Given the description of an element on the screen output the (x, y) to click on. 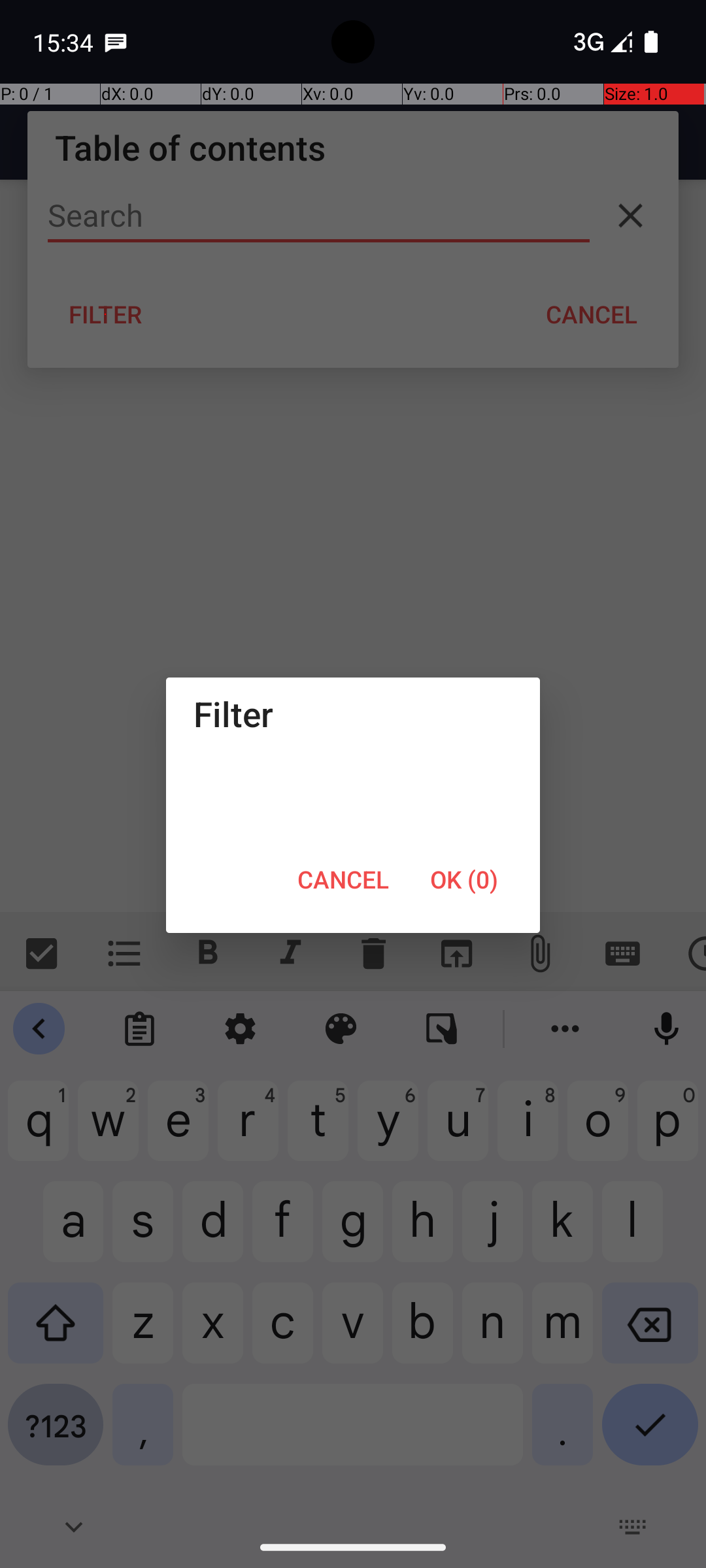
Filter Element type: android.widget.TextView (352, 713)
OK (0) Element type: android.widget.Button (464, 879)
